Given the description of an element on the screen output the (x, y) to click on. 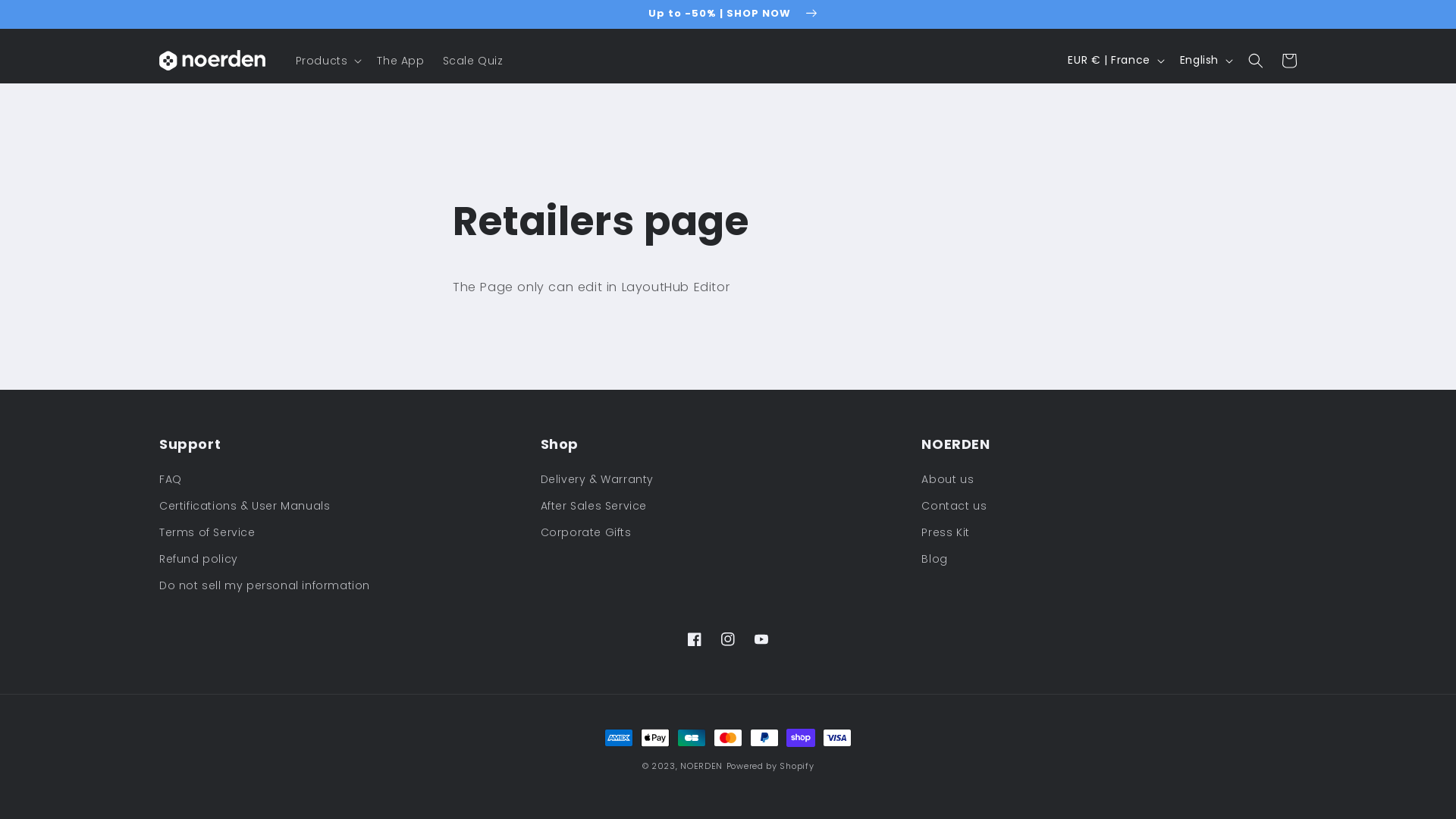
Press Kit Element type: text (945, 532)
Powered by Shopify Element type: text (770, 765)
Do not sell my personal information Element type: text (264, 585)
The App Element type: text (400, 60)
FAQ Element type: text (170, 481)
English Element type: text (1204, 60)
After Sales Service Element type: text (593, 505)
Refund policy Element type: text (198, 559)
Delivery & Warranty Element type: text (596, 481)
Cart Element type: text (1288, 60)
Corporate Gifts Element type: text (585, 532)
Blog Element type: text (934, 559)
Facebook Element type: text (694, 638)
NOERDEN Element type: text (701, 765)
Terms of Service Element type: text (207, 532)
About us Element type: text (947, 481)
Scale Quiz Element type: text (472, 60)
YouTube Element type: text (761, 638)
Contact us Element type: text (953, 505)
Certifications & User Manuals Element type: text (244, 505)
Instagram Element type: text (727, 638)
